Given the description of an element on the screen output the (x, y) to click on. 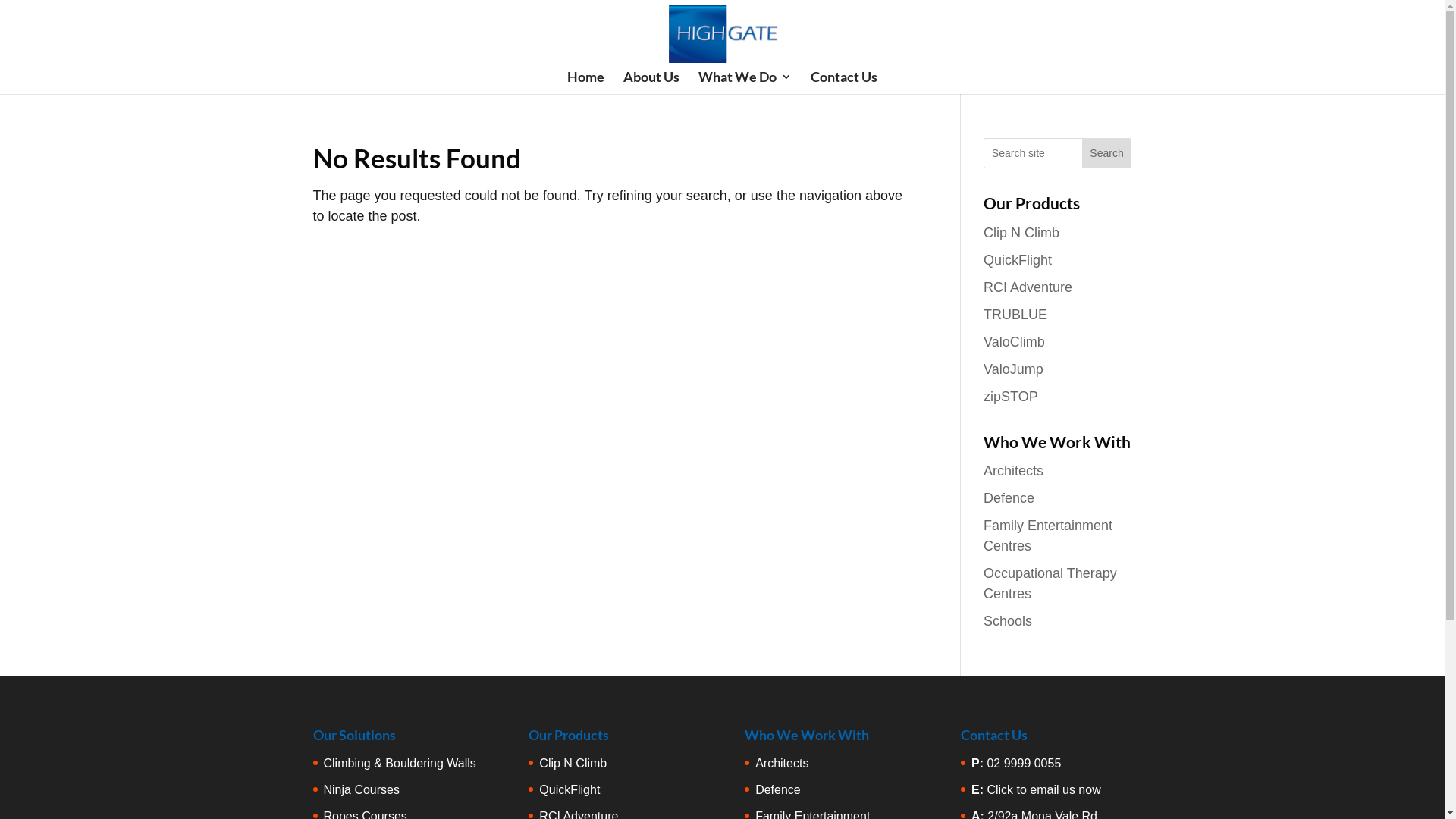
Architects Element type: text (781, 762)
Architects Element type: text (1013, 470)
ValoClimb Element type: text (1013, 340)
What We Do Element type: text (744, 82)
Family Entertainment Centres Element type: text (1047, 535)
QuickFlight Element type: text (569, 789)
Home Element type: text (585, 82)
Occupational Therapy Centres Element type: text (1050, 583)
TRUBLUE Element type: text (1015, 313)
Clip N Climb Element type: text (1021, 231)
About Us Element type: text (651, 82)
Defence Element type: text (777, 789)
Ninja Courses Element type: text (360, 789)
Contact Us Element type: text (843, 82)
Climbing & Bouldering Walls Element type: text (399, 762)
Search Element type: text (1107, 153)
Clip N Climb Element type: text (572, 762)
Defence Element type: text (1008, 497)
zipSTOP Element type: text (1010, 395)
Schools Element type: text (1007, 620)
QuickFlight Element type: text (1017, 258)
RCI Adventure Element type: text (1027, 286)
02 9999 0055 Element type: text (1023, 762)
ValoJump Element type: text (1013, 368)
Click to email us now Element type: text (1043, 789)
